Given the description of an element on the screen output the (x, y) to click on. 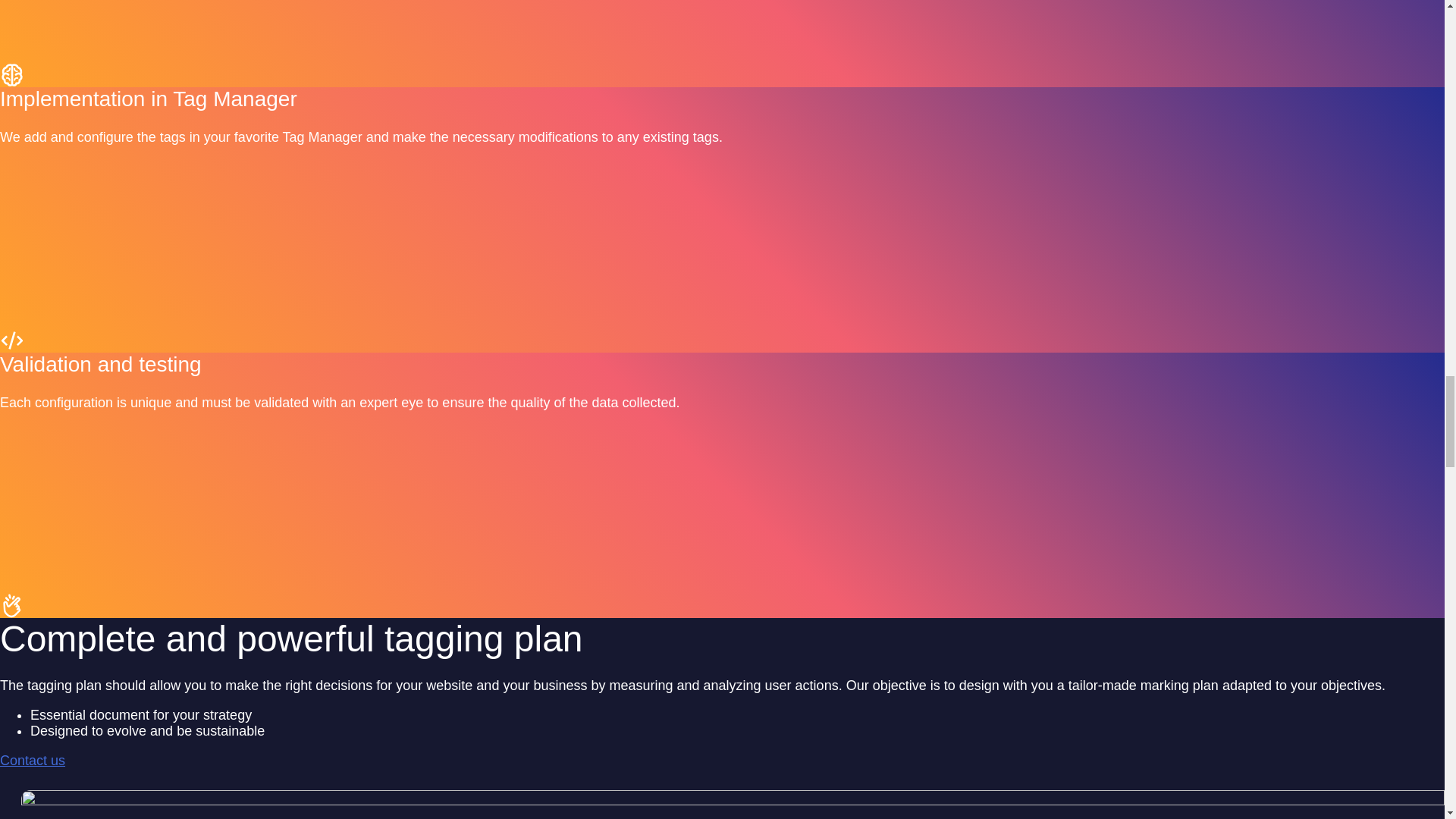
Contact us (32, 760)
